Given the description of an element on the screen output the (x, y) to click on. 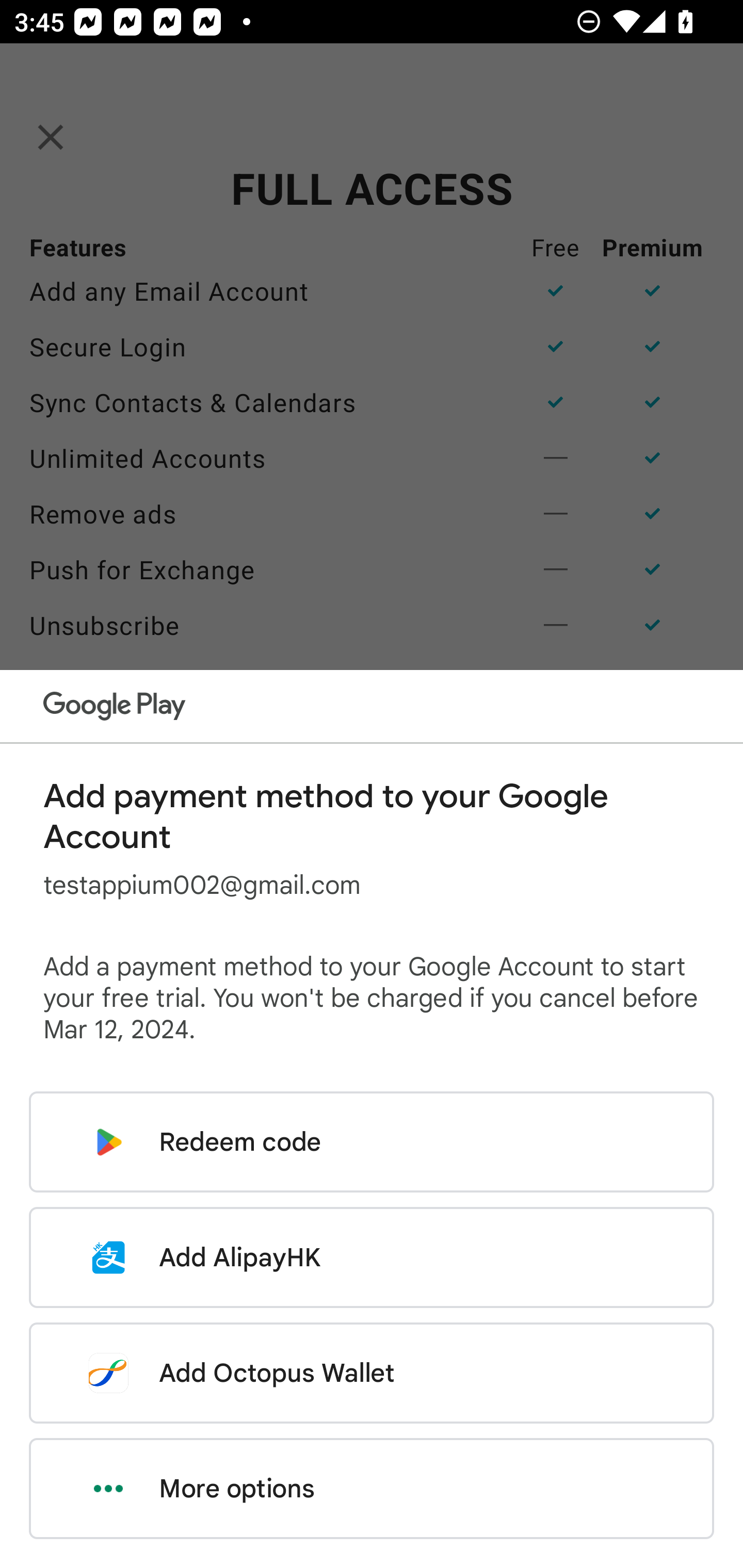
Redeem code (371, 1142)
Add AlipayHK (371, 1257)
Add Octopus Wallet (371, 1372)
More options (371, 1488)
